Given the description of an element on the screen output the (x, y) to click on. 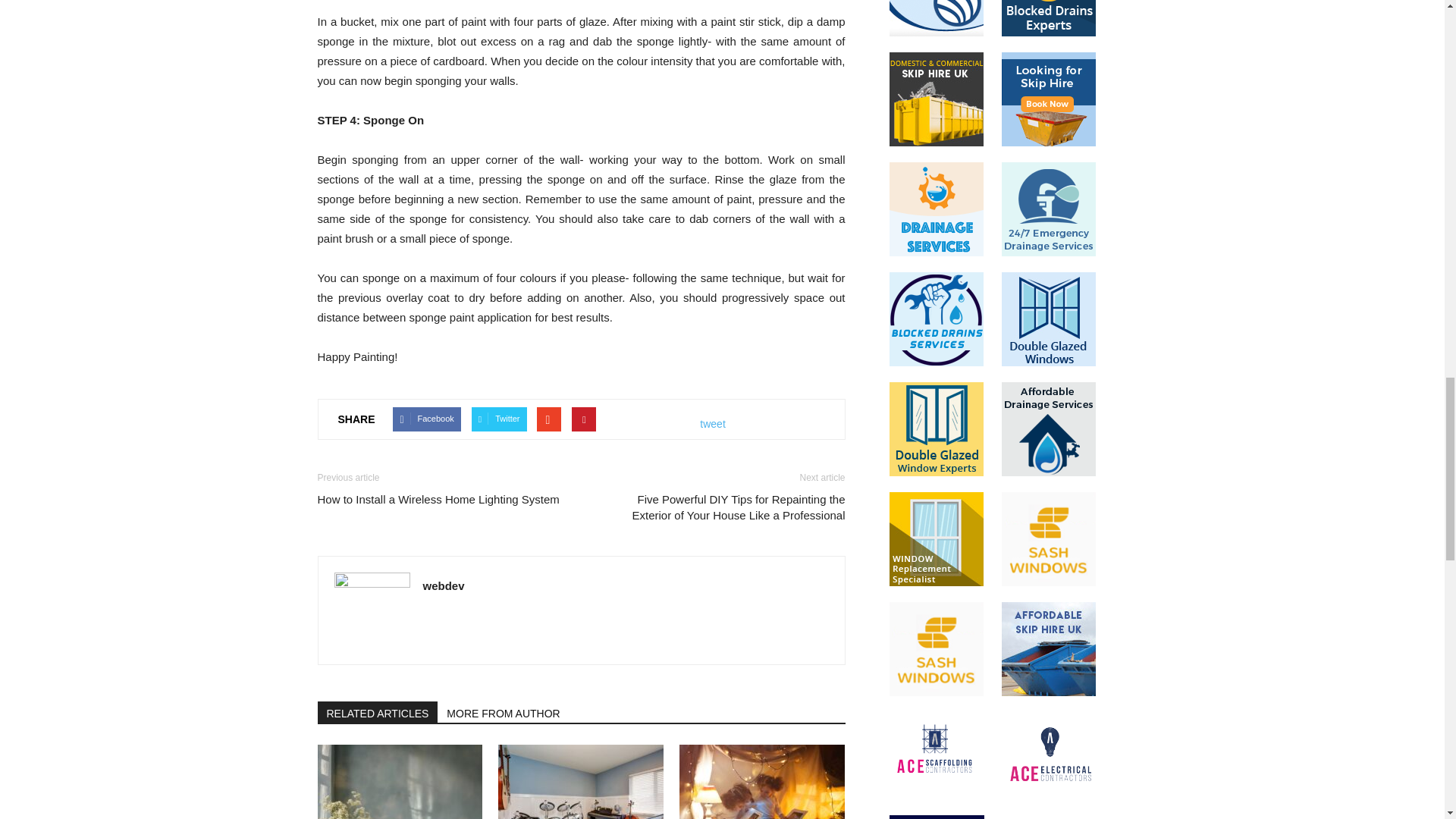
15 Creative And Simple Ideas For Decorating Your Music Room (580, 781)
DIY Accent Wall Painting Ideas for Bedrooms (399, 781)
